Given the description of an element on the screen output the (x, y) to click on. 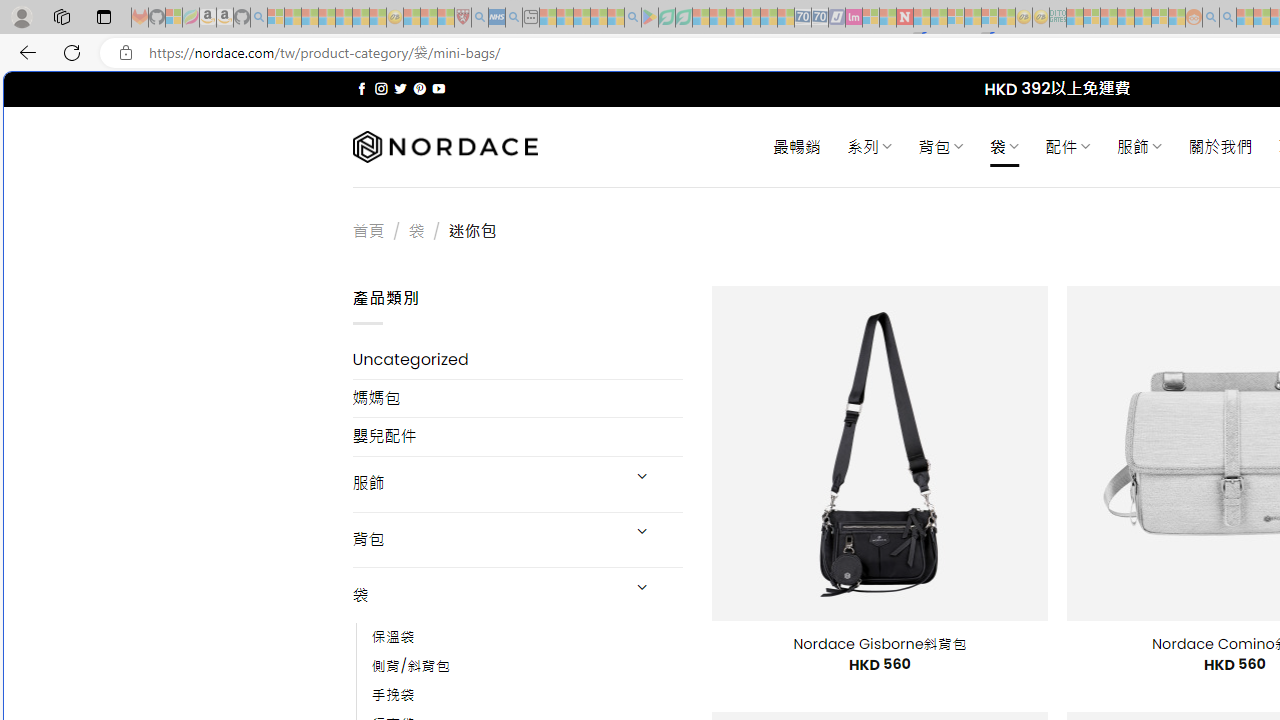
Kinda Frugal - MSN - Sleeping (1142, 17)
Trusted Community Engagement and Contributions | Guidelines (921, 17)
Follow on YouTube (438, 88)
New tab - Sleeping (530, 17)
The Weather Channel - MSN - Sleeping (309, 17)
